Given the description of an element on the screen output the (x, y) to click on. 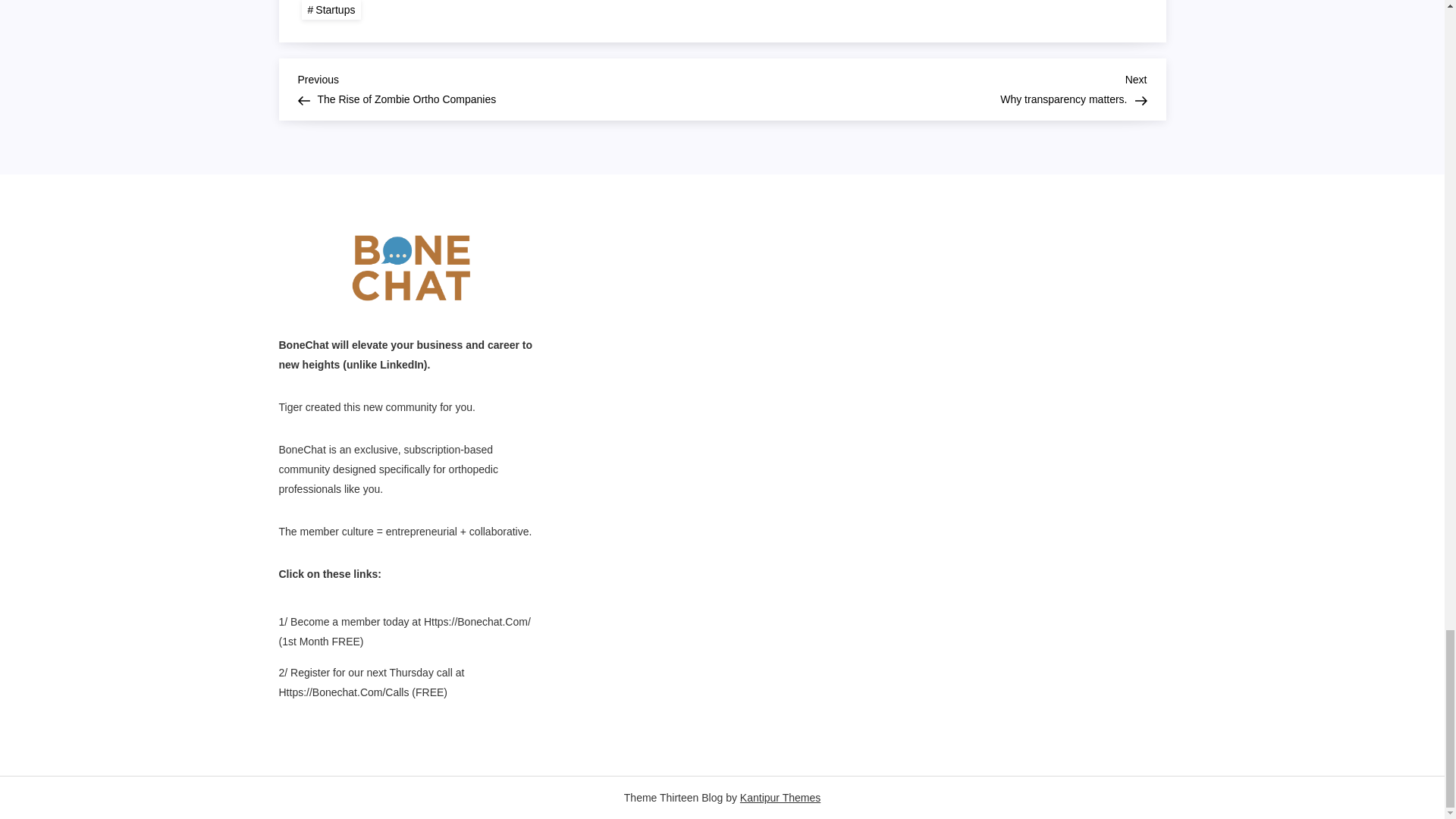
Startups (509, 87)
Kantipur Themes (331, 9)
